Given the description of an element on the screen output the (x, y) to click on. 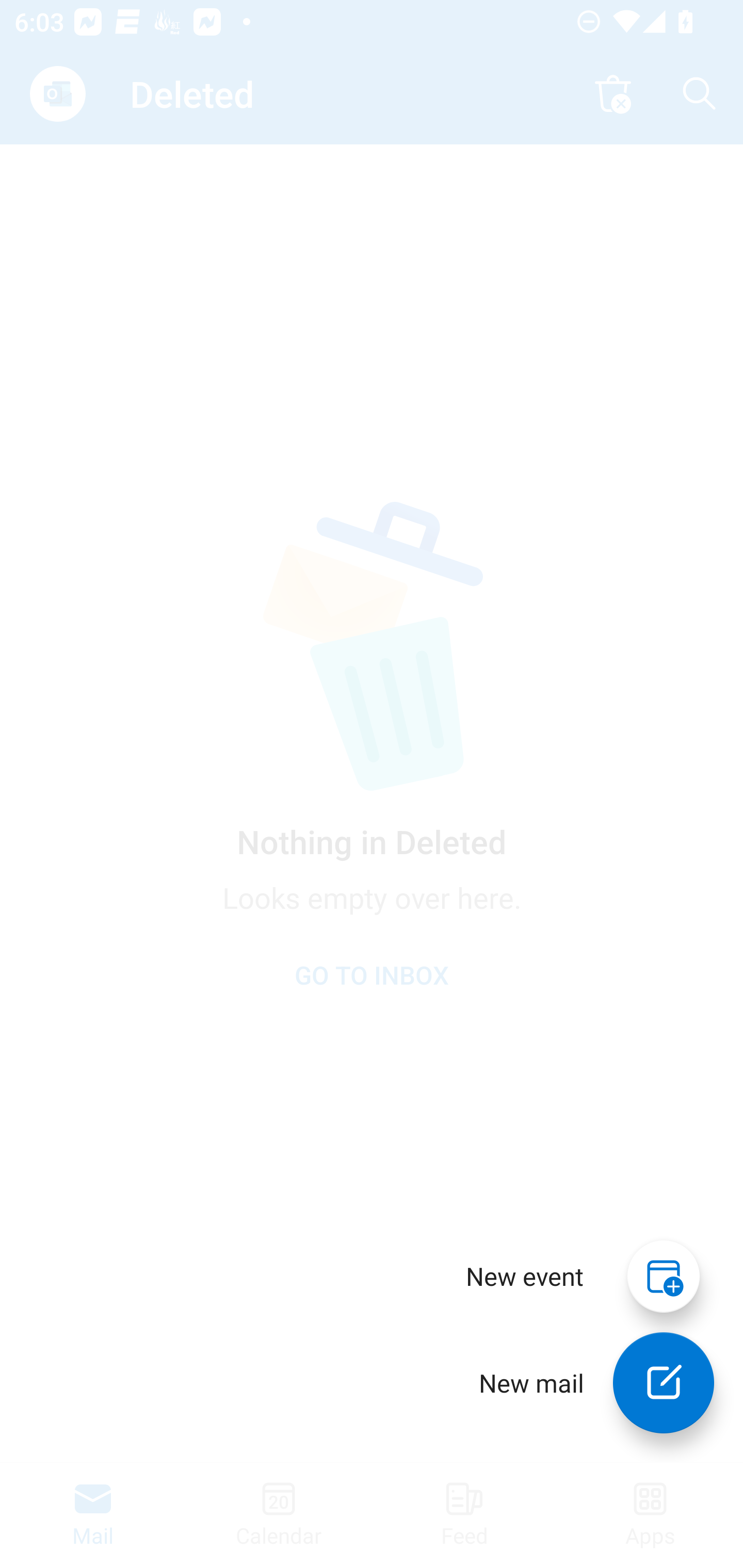
New event (524, 1275)
New mail New mail New mail (582, 1382)
New mail (663, 1382)
